Given the description of an element on the screen output the (x, y) to click on. 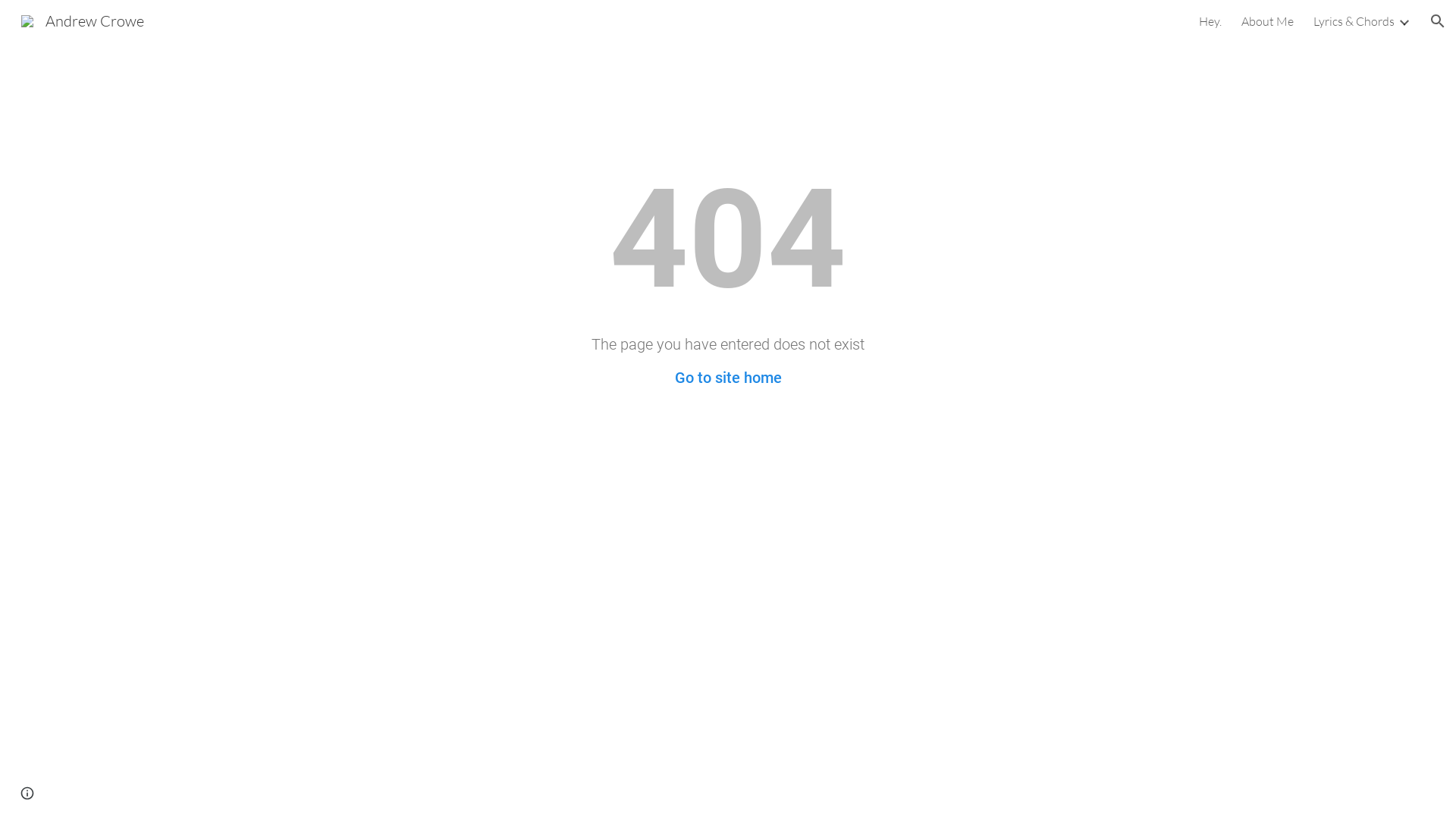
Go to site home Element type: text (727, 377)
Expand/Collapse Element type: hover (1403, 20)
Andrew Crowe Element type: text (82, 18)
Hey. Element type: text (1209, 20)
About Me Element type: text (1267, 20)
Lyrics & Chords Element type: text (1353, 20)
